Given the description of an element on the screen output the (x, y) to click on. 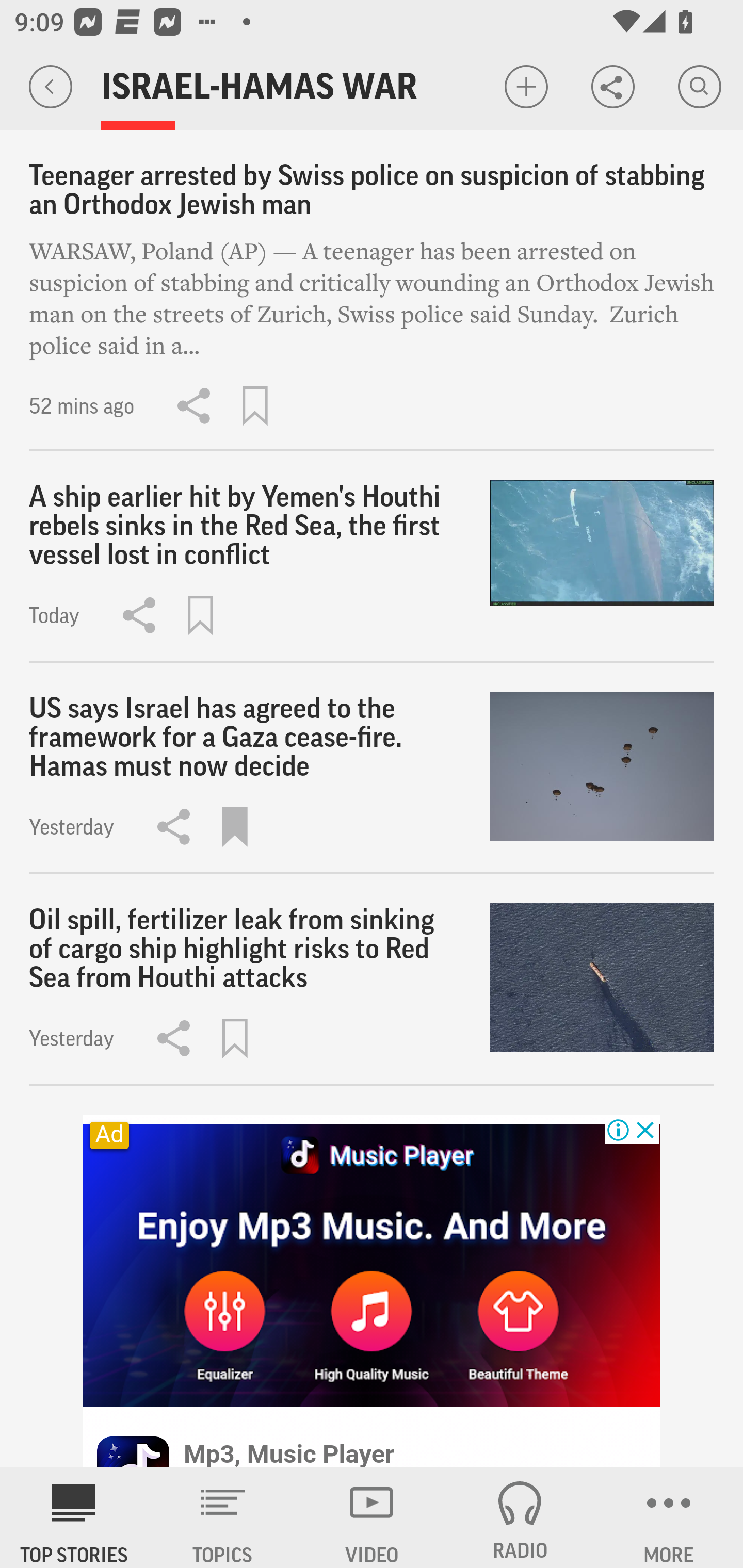
Mp3, Music Player (288, 1452)
AP News TOP STORIES (74, 1517)
TOPICS (222, 1517)
VIDEO (371, 1517)
RADIO (519, 1517)
MORE (668, 1517)
